Given the description of an element on the screen output the (x, y) to click on. 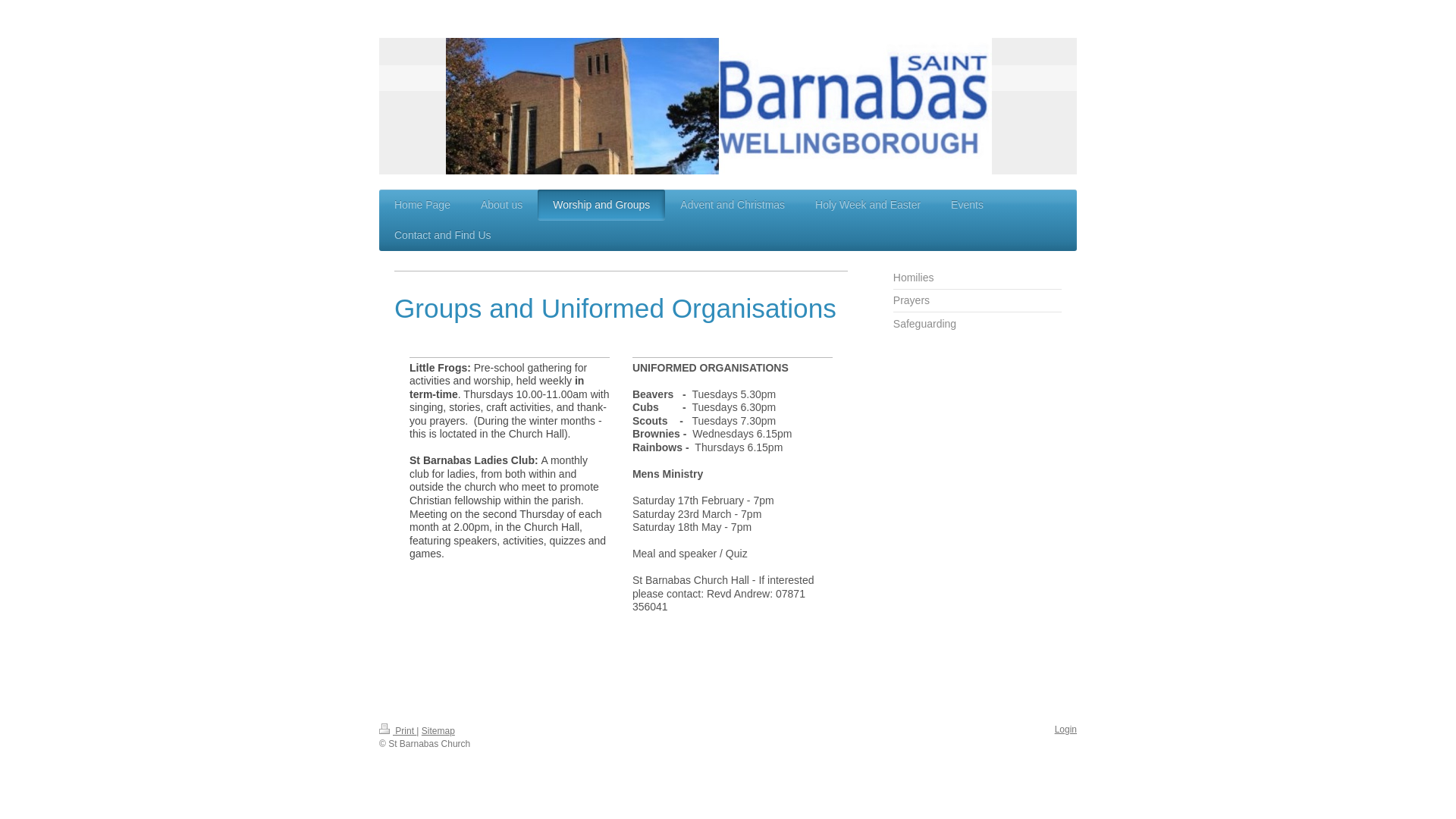
Login (1065, 728)
Advent and Christmas (732, 204)
Holy Week and Easter (867, 204)
Worship and Groups (601, 204)
About us (501, 204)
Print (397, 730)
Events (967, 204)
Safeguarding (977, 323)
Prayers (977, 300)
Home Page (421, 204)
